Given the description of an element on the screen output the (x, y) to click on. 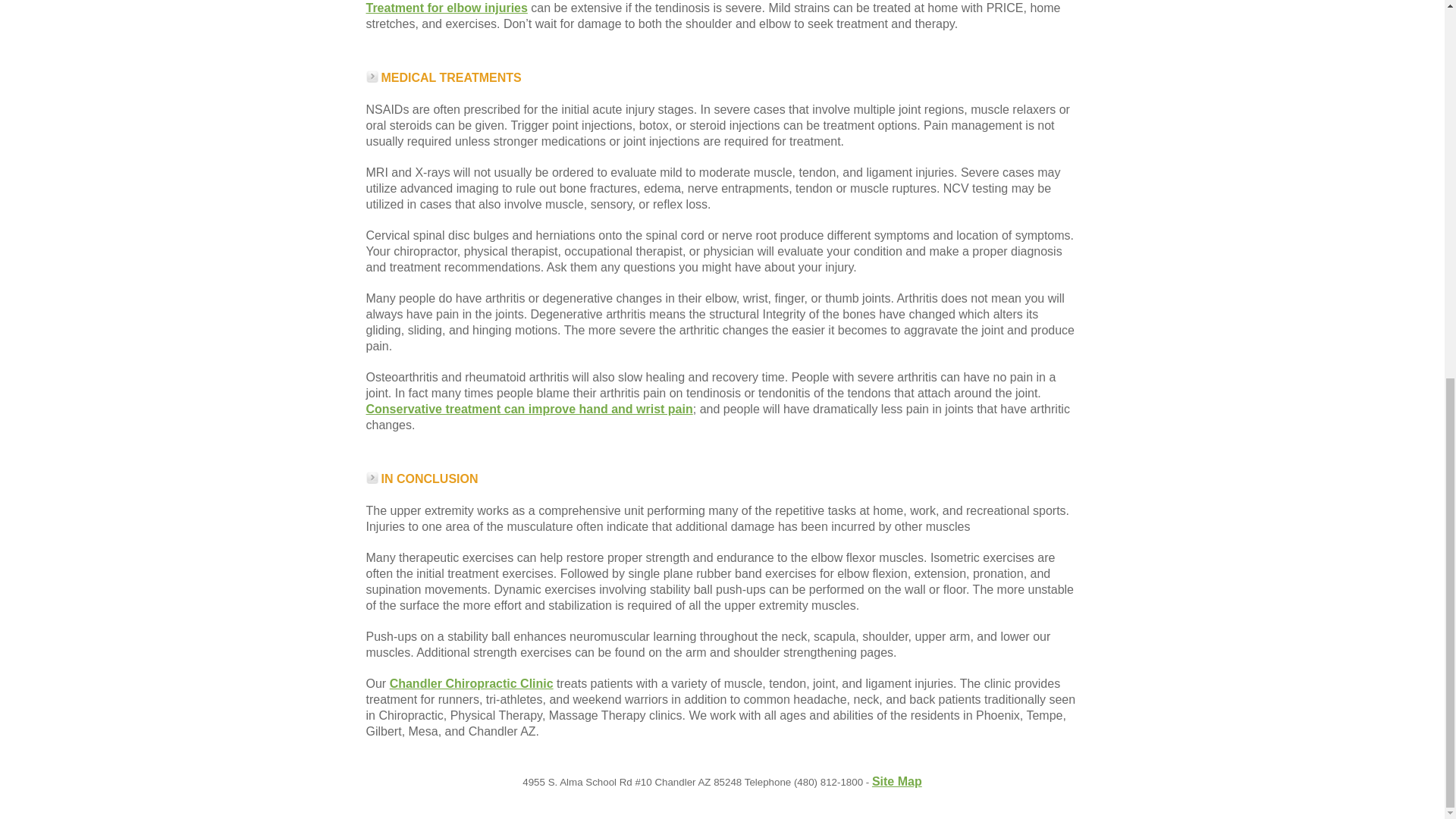
Treatment for elbow injuries (446, 7)
Site Map (896, 780)
Chandler Chiropractic Clinic (471, 683)
Conservative treatment can improve hand and wrist pain (529, 408)
